Given the description of an element on the screen output the (x, y) to click on. 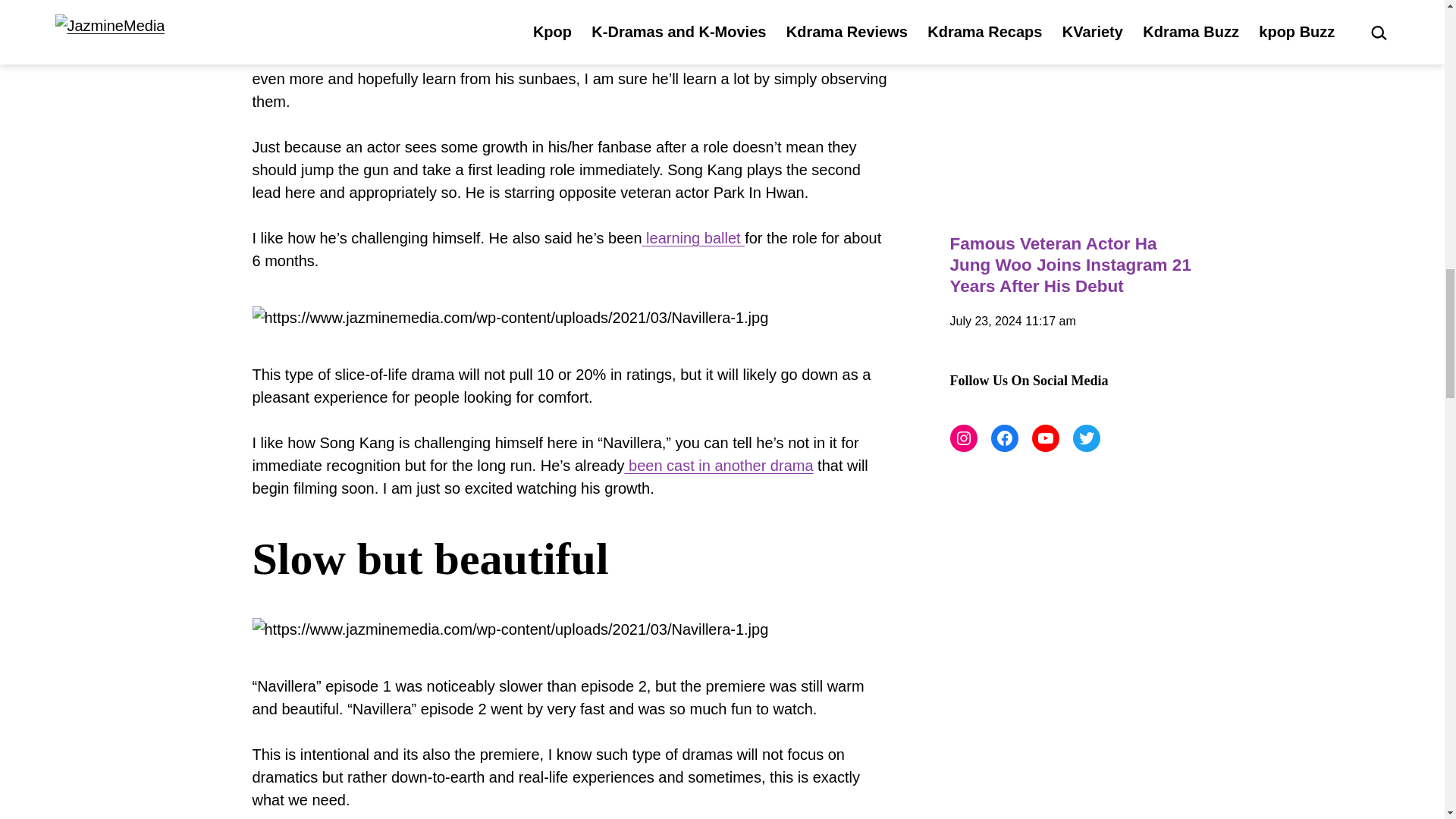
been cast in another drama (718, 465)
Navillera 2 (509, 317)
Ha Jung Woo (1070, 143)
YouTube (1044, 438)
Facebook (1003, 438)
Twitter (1085, 438)
Instagram (962, 438)
learning ballet (693, 238)
Navillera 3 (509, 629)
